Given the description of an element on the screen output the (x, y) to click on. 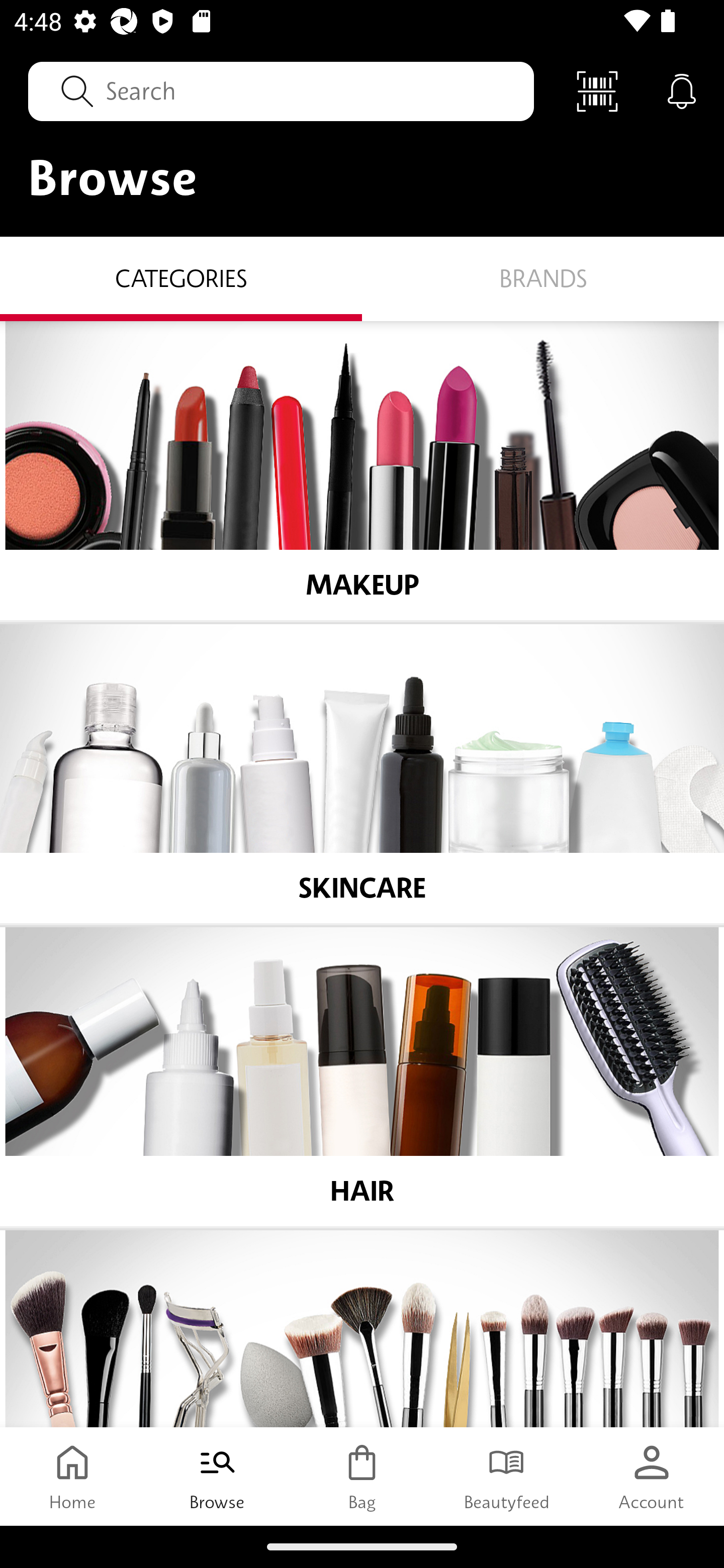
Scan Code (597, 90)
Notifications (681, 90)
Search (281, 90)
Brands BRANDS (543, 278)
MAKEUP (362, 471)
SKINCARE (362, 774)
HAIR (362, 1076)
Home (72, 1475)
Bag (361, 1475)
Beautyfeed (506, 1475)
Account (651, 1475)
